Given the description of an element on the screen output the (x, y) to click on. 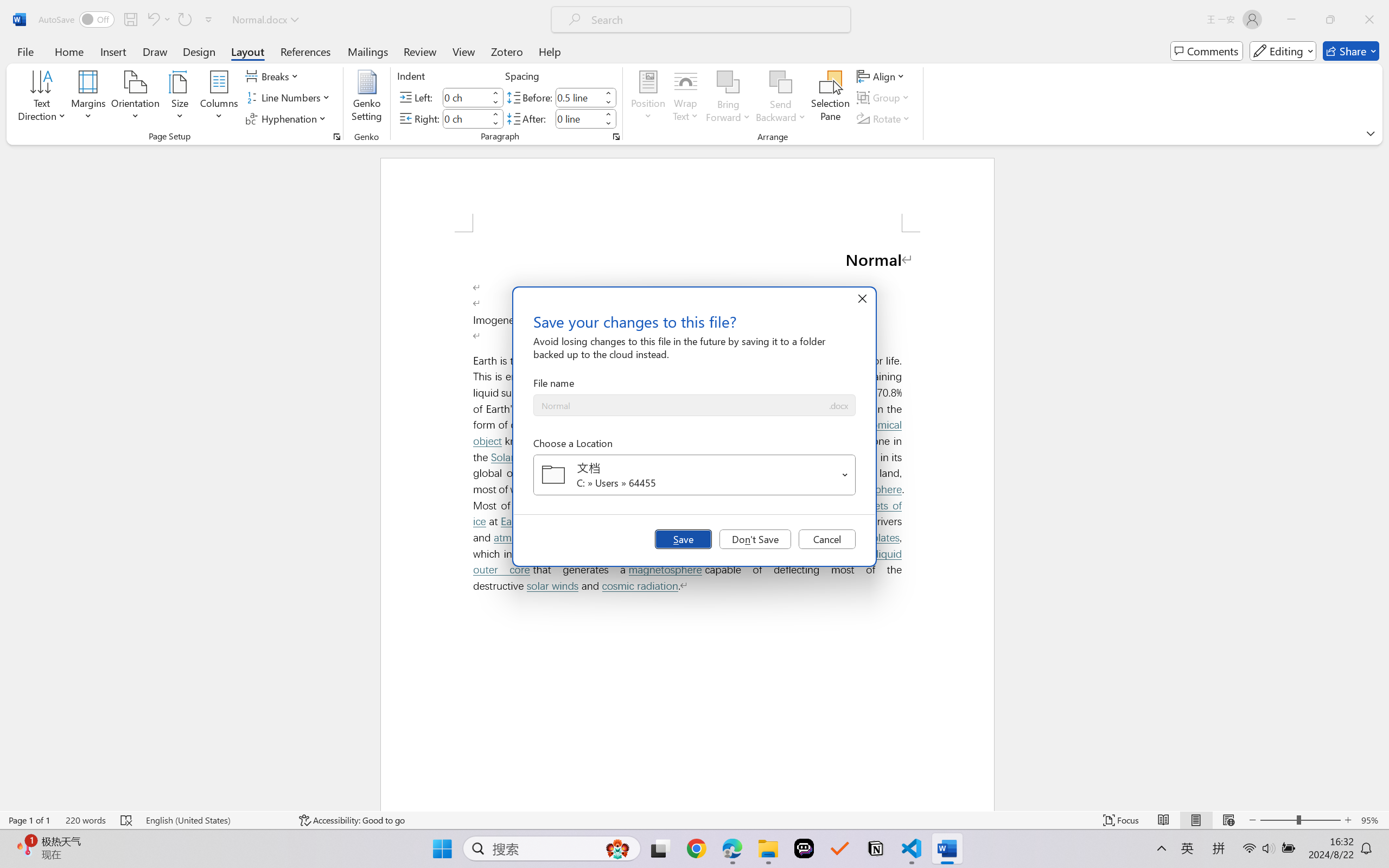
File name (680, 405)
Undo Paragraph Formatting (152, 19)
Spacing Before (578, 96)
Orientation (135, 97)
